Given the description of an element on the screen output the (x, y) to click on. 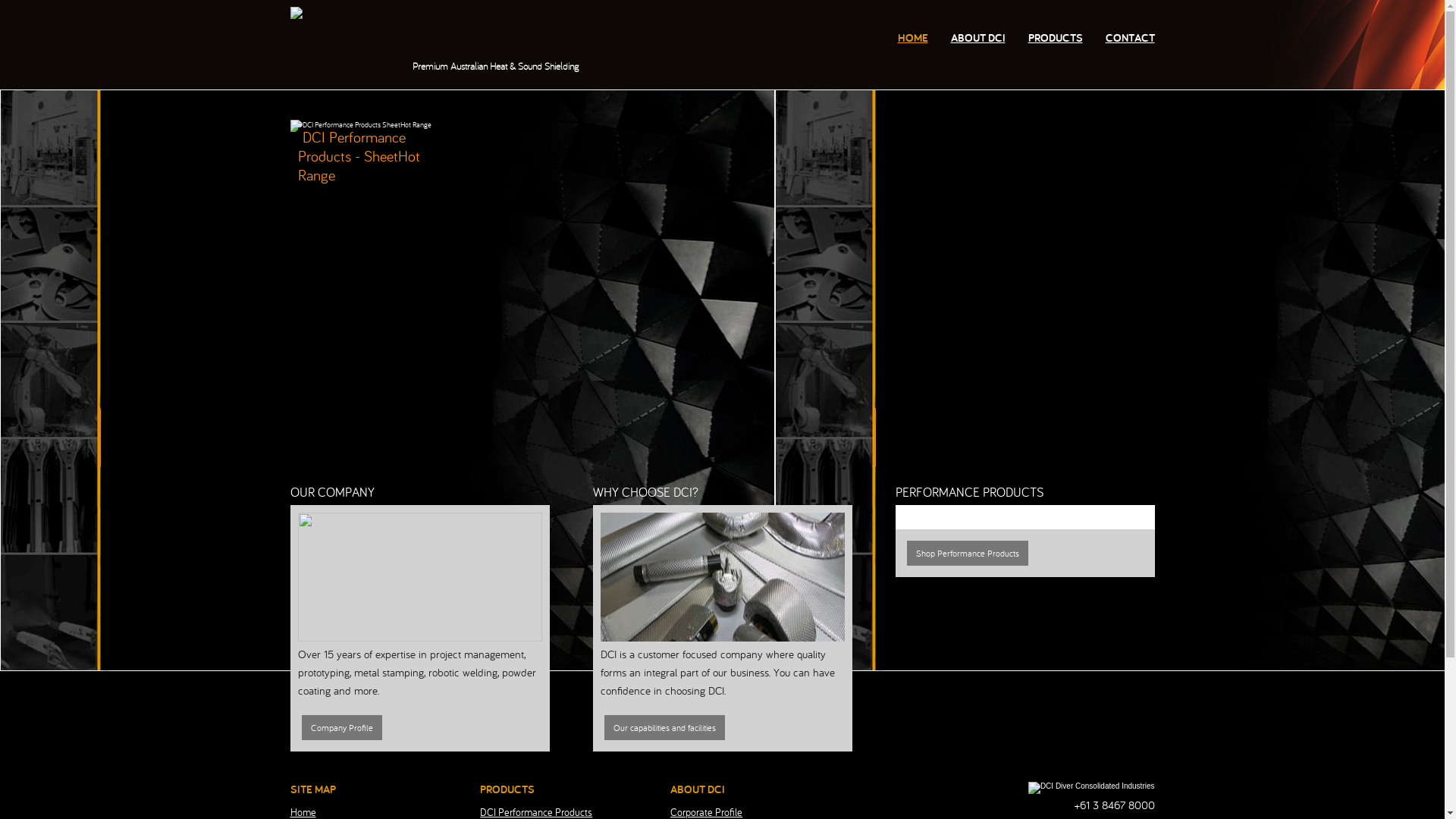
ABOUT DCI Element type: text (977, 37)
Shop Performance Products Element type: text (967, 551)
CONTACT Element type: text (1129, 37)
Our capabilities and facilities Element type: text (663, 726)
Company Profile Element type: text (341, 726)
Premium Australian Heat & Sound Shielding Element type: text (459, 13)
HOME Element type: text (912, 37)
PRODUCTS Element type: text (1055, 37)
